Given the description of an element on the screen output the (x, y) to click on. 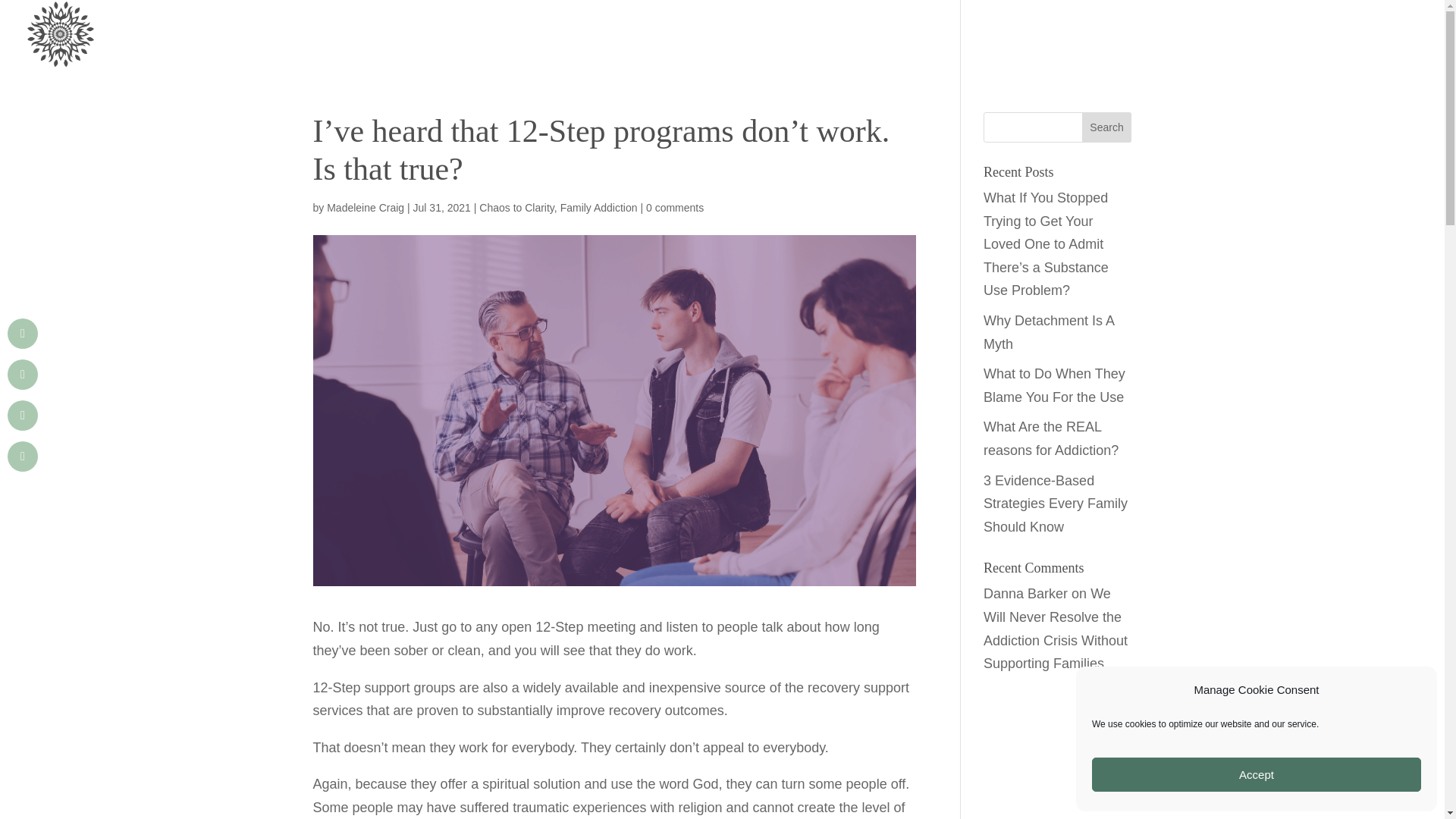
Accept (1256, 774)
Chaos to Clarity (516, 207)
Madeleine Craig (365, 207)
PROGRAMS (1097, 47)
Posts by Madeleine Craig (365, 207)
0 comments (674, 207)
Family Addiction (598, 207)
ABOUT (1178, 47)
Search (1106, 127)
RESOURCES (1264, 47)
